Given the description of an element on the screen output the (x, y) to click on. 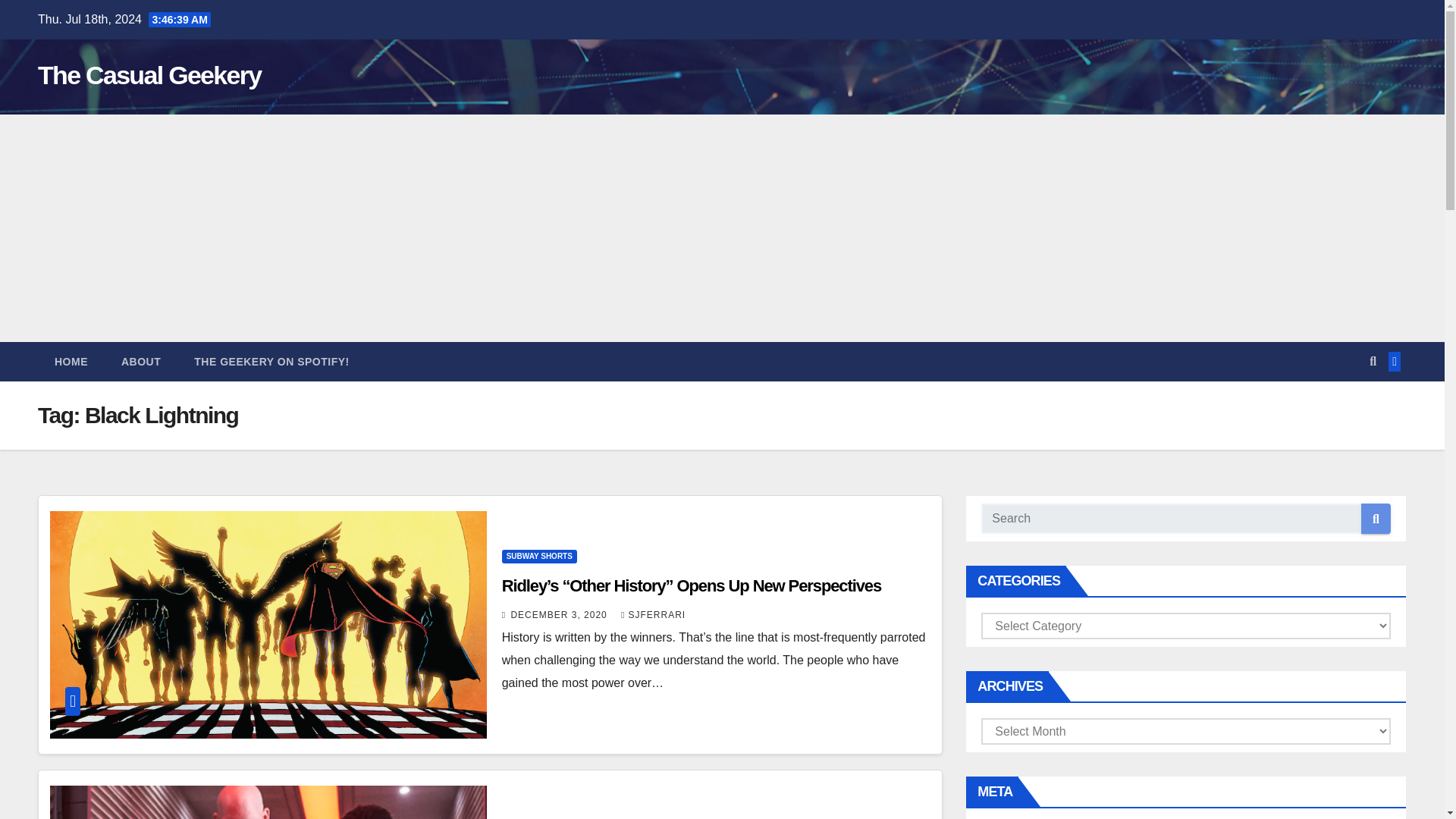
HOME (70, 361)
SUBWAY SHORTS (539, 556)
ABOUT (140, 361)
SJFERRARI (653, 614)
DECEMBER 3, 2020 (560, 614)
Home (70, 361)
THE GEEKERY ON SPOTIFY! (271, 361)
The Casual Geekery (148, 74)
